Given the description of an element on the screen output the (x, y) to click on. 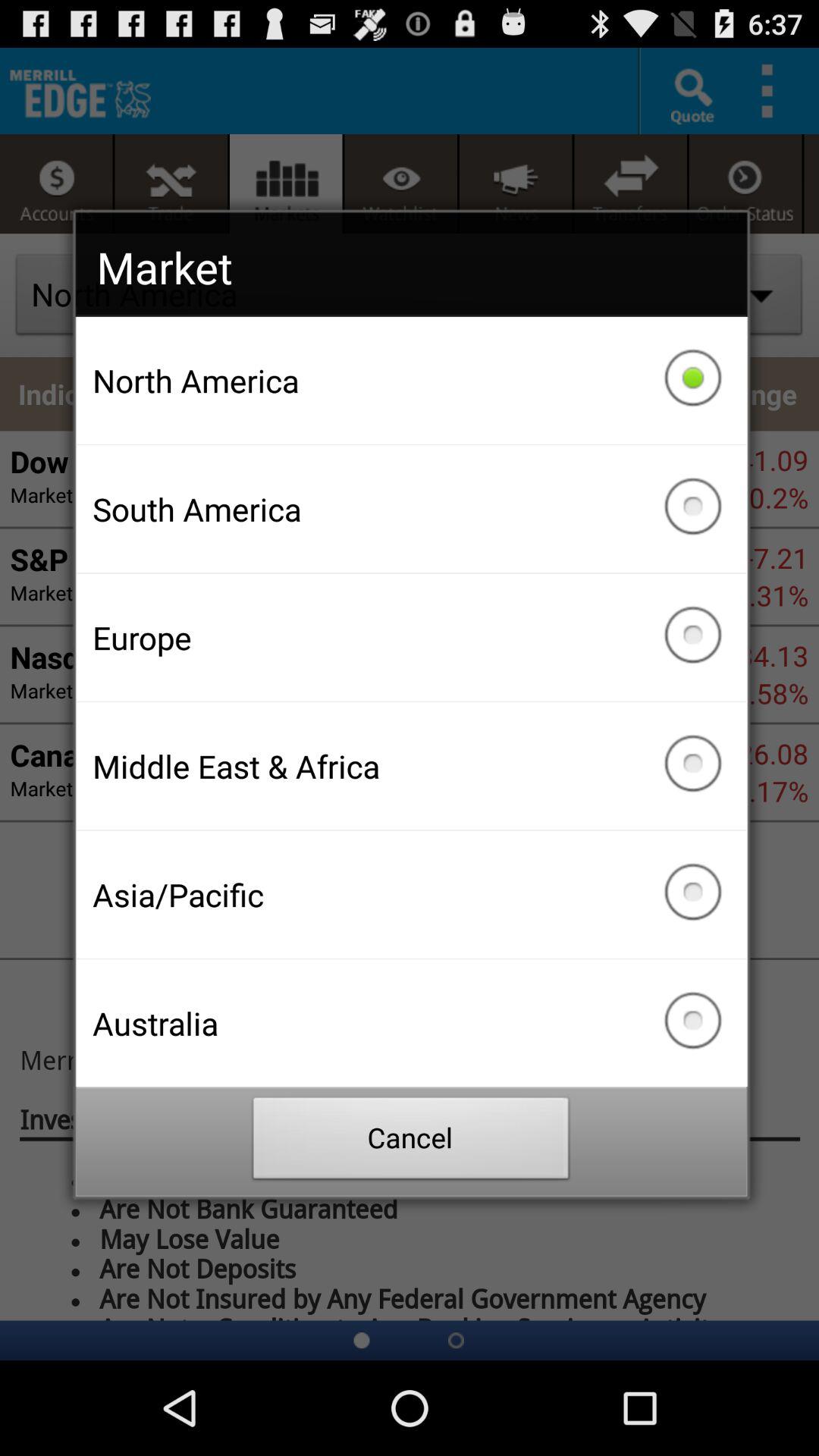
choose the cancel icon (410, 1142)
